Given the description of an element on the screen output the (x, y) to click on. 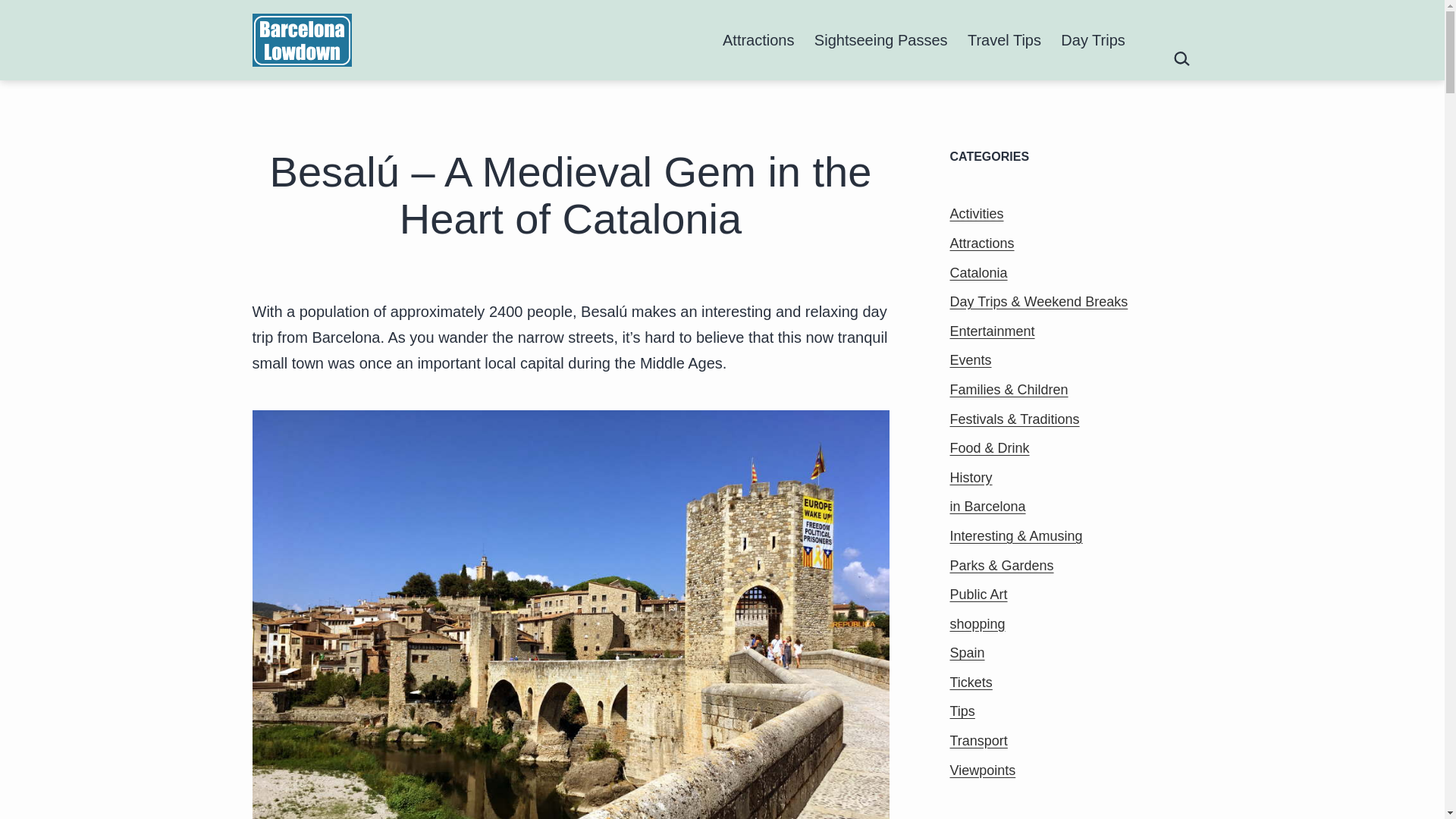
Events (970, 359)
Attractions (981, 242)
Travel Tips (1004, 39)
Attractions (759, 39)
Entertainment (991, 331)
Activities (976, 213)
Catalonia (978, 272)
Sightseeing Passes (881, 39)
Day Trips (1093, 39)
